Given the description of an element on the screen output the (x, y) to click on. 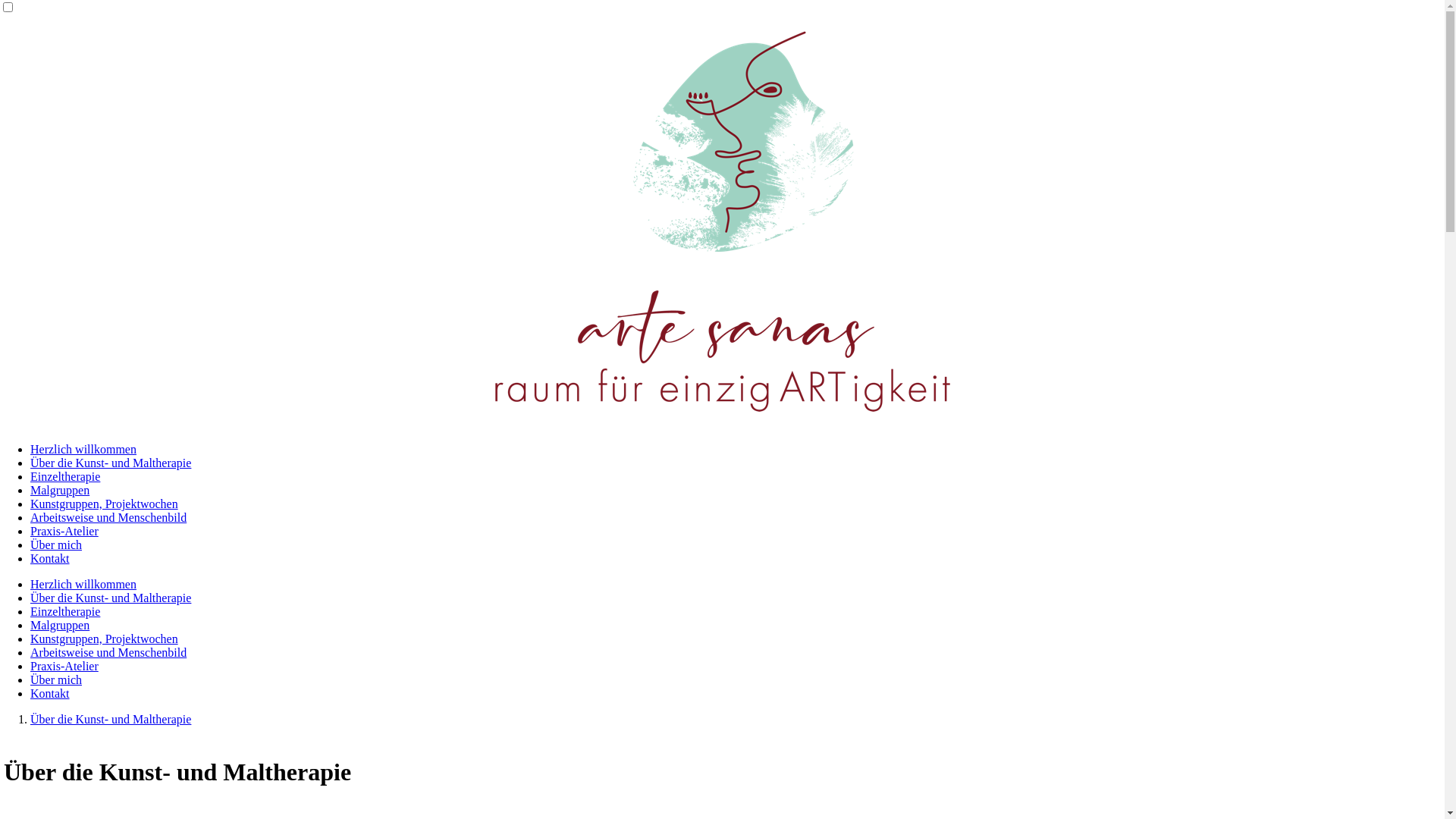
Herzlich willkommen Element type: text (83, 448)
Praxis-Atelier Element type: text (64, 665)
Kunstgruppen, Projektwochen Element type: text (104, 503)
Kontakt Element type: text (49, 693)
Kontakt Element type: text (49, 558)
Arbeitsweise und Menschenbild Element type: text (108, 652)
Malgruppen Element type: text (59, 489)
Malgruppen Element type: text (59, 624)
Arbeitsweise und Menschenbild Element type: text (108, 517)
Einzeltherapie Element type: text (65, 611)
Einzeltherapie Element type: text (65, 476)
Herzlich willkommen Element type: text (83, 583)
Kunstgruppen, Projektwochen Element type: text (104, 638)
Praxis-Atelier Element type: text (64, 530)
